Given the description of an element on the screen output the (x, y) to click on. 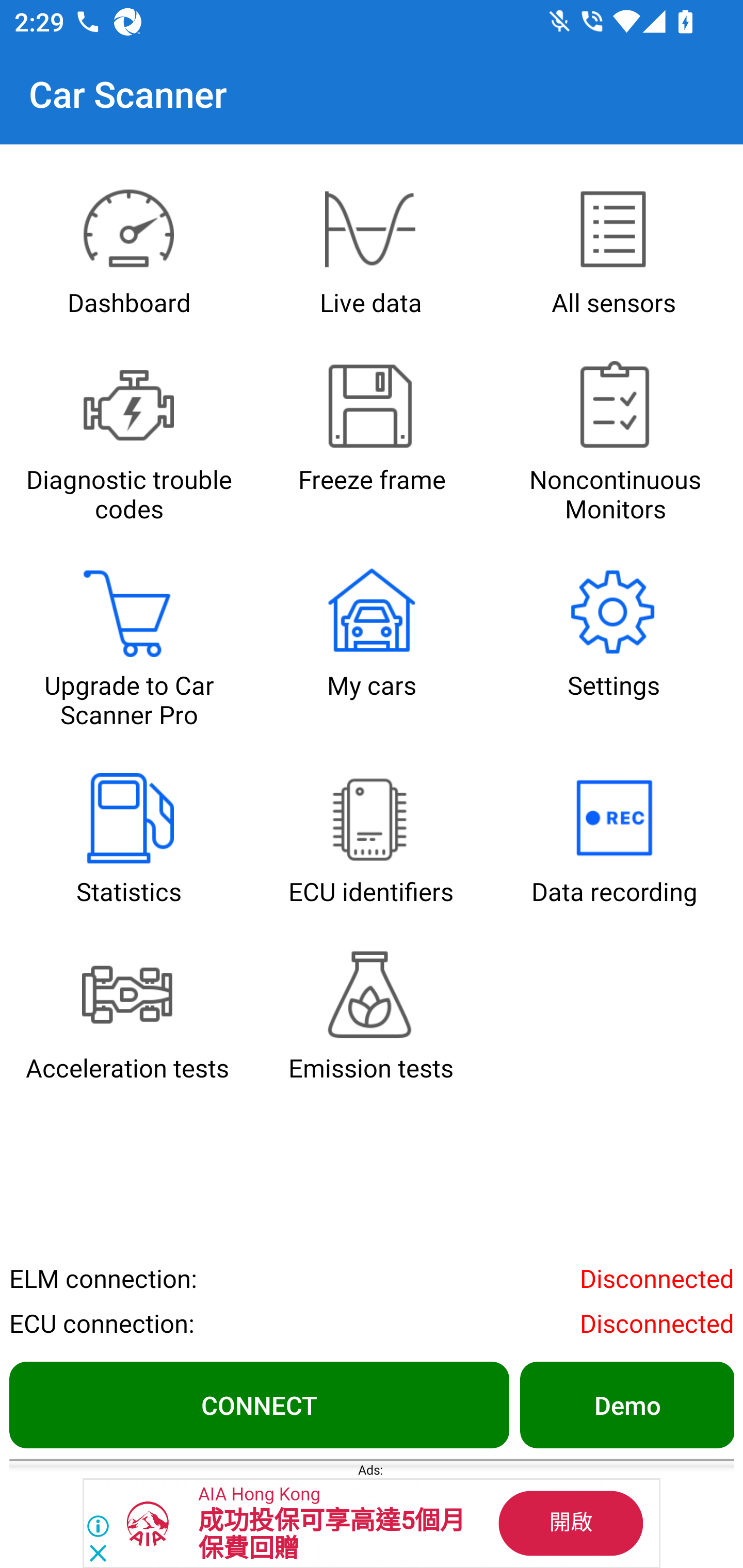
CONNECT (258, 1404)
Demo (627, 1404)
